Given the description of an element on the screen output the (x, y) to click on. 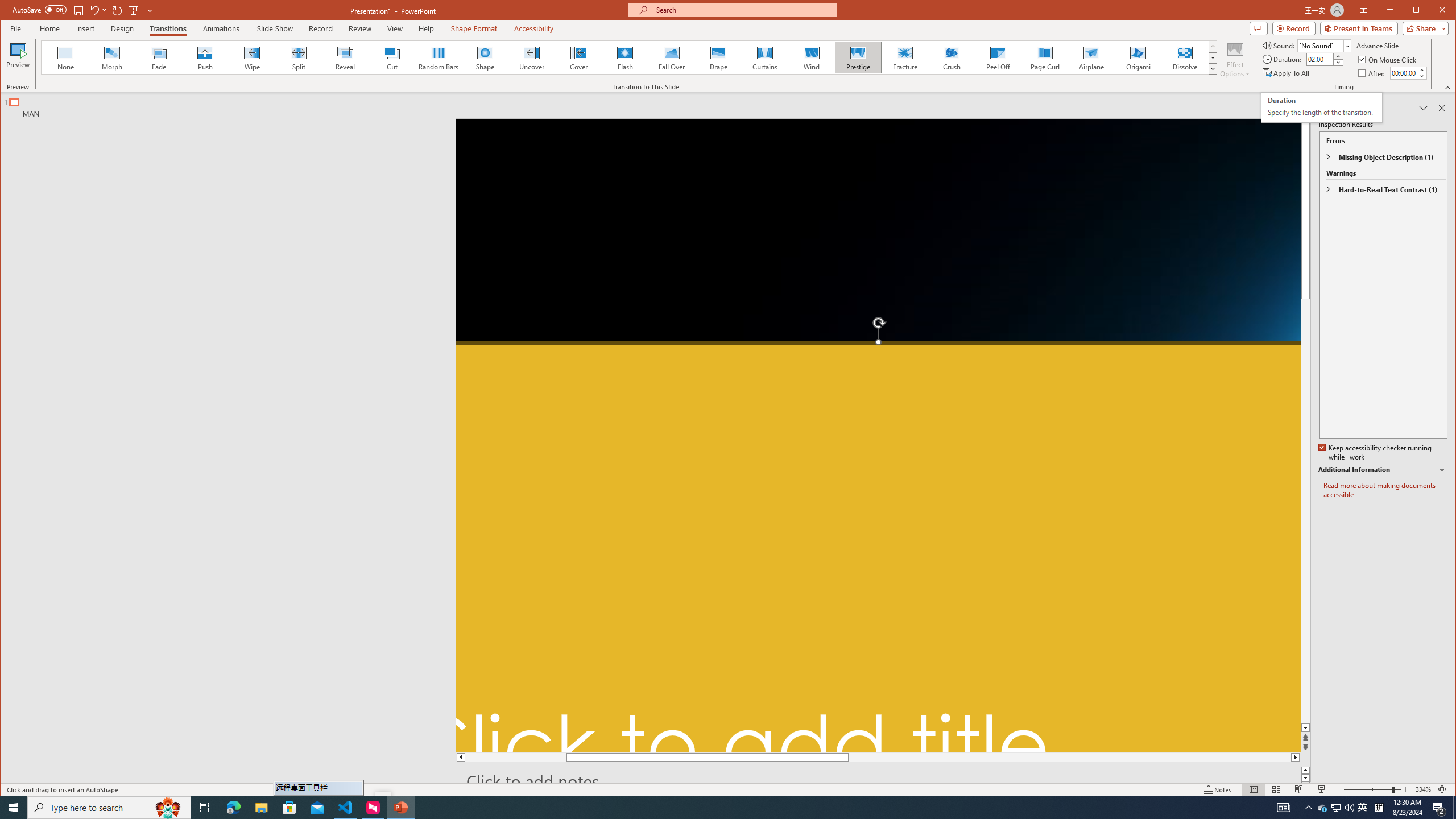
Crush (951, 57)
Curtains (764, 57)
Morph (111, 57)
